Given the description of an element on the screen output the (x, y) to click on. 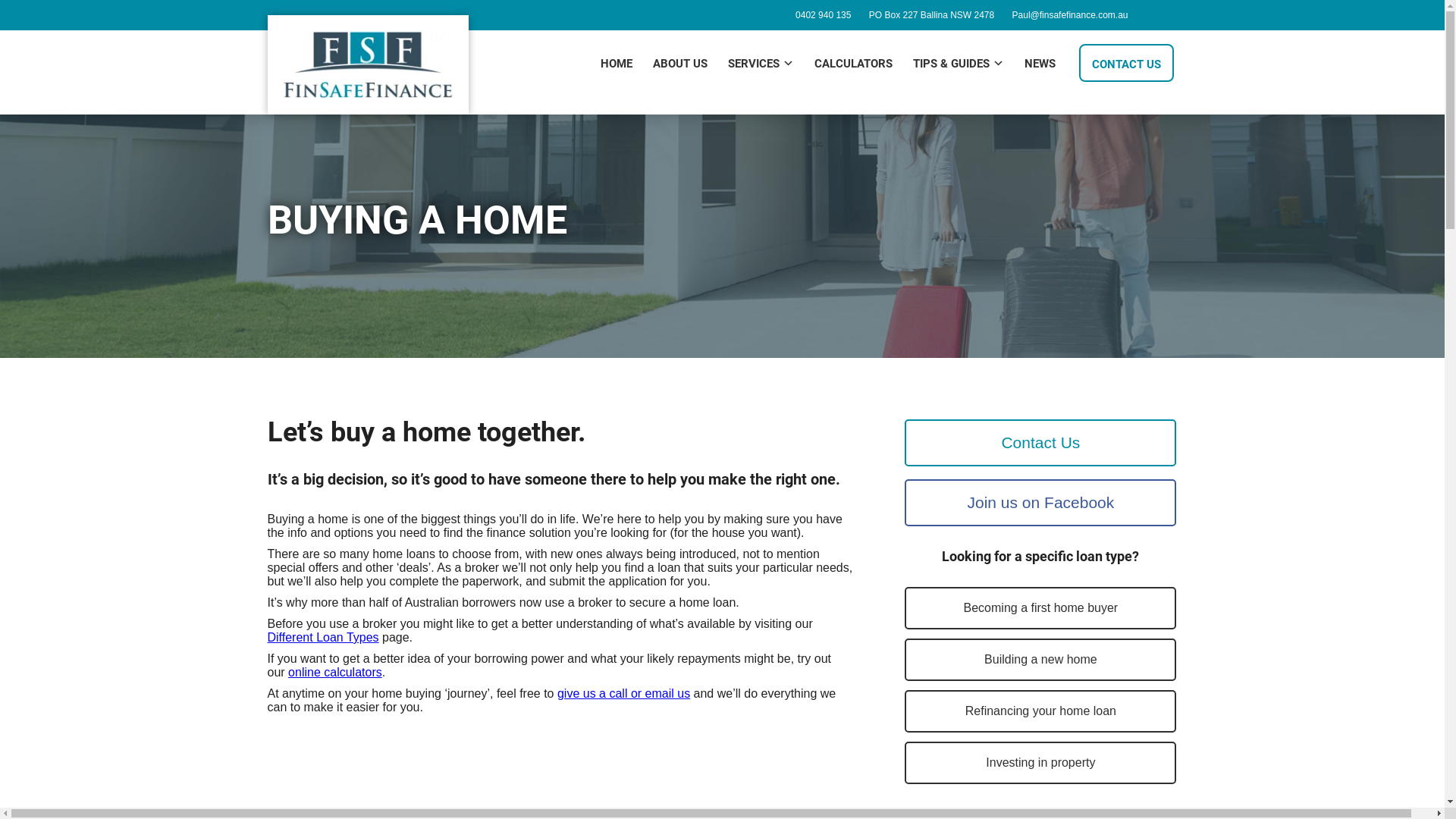
SERVICES Element type: text (759, 62)
Contact Us Element type: text (1039, 442)
0402 940 135 Element type: text (822, 14)
Building a new home Element type: text (1039, 659)
CALCULATORS Element type: text (852, 62)
Investing in property Element type: text (1039, 762)
Join us on Facebook Element type: text (1039, 502)
CONTACT US Element type: text (1125, 62)
FinSafe Finance on Google Element type: hover (1171, 14)
ABOUT US Element type: text (679, 62)
give us a call or email us Element type: text (623, 693)
Paul@finsafefinance.com.au Element type: text (1070, 14)
FinSafe Finance on Facebook Element type: hover (1148, 14)
TIPS & GUIDES Element type: text (957, 62)
HOME Element type: text (615, 62)
FinSafe Finance on LinkedIn Element type: hover (1159, 14)
Becoming a first home buyer Element type: text (1039, 608)
Different Loan Types Element type: text (322, 636)
online calculators Element type: text (335, 671)
Refinancing your home loan Element type: text (1039, 711)
NEWS Element type: text (1039, 62)
